Given the description of an element on the screen output the (x, y) to click on. 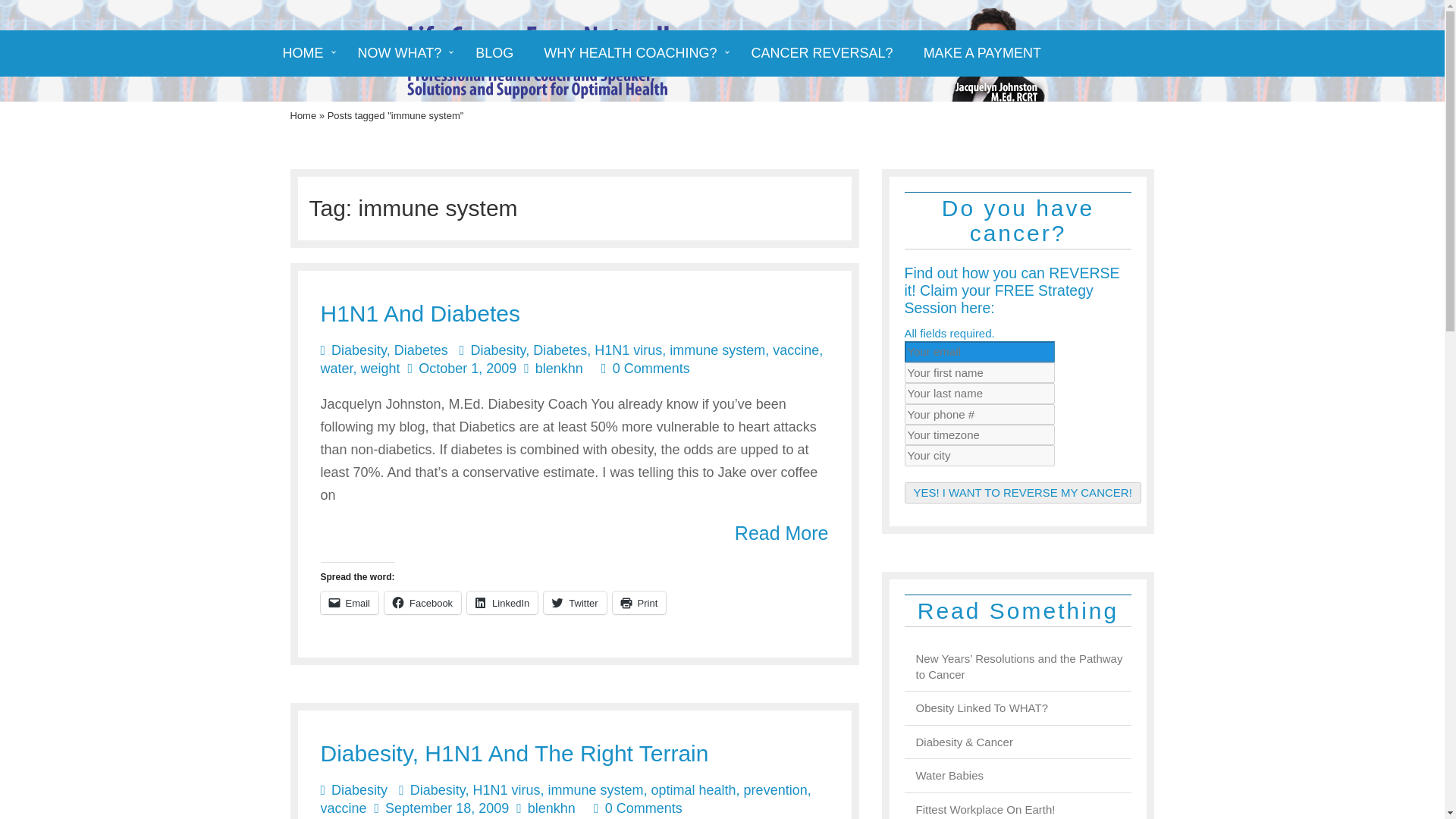
MAKE A PAYMENT (982, 53)
H1N1 And Diabetes (419, 313)
Diabetes (421, 350)
HOME (304, 53)
View all posts by blenkhn (559, 368)
Click to share on Twitter (574, 602)
immune system (717, 350)
Click to share on LinkedIn (502, 602)
6:04 pm (446, 807)
BLOG (494, 53)
